Given the description of an element on the screen output the (x, y) to click on. 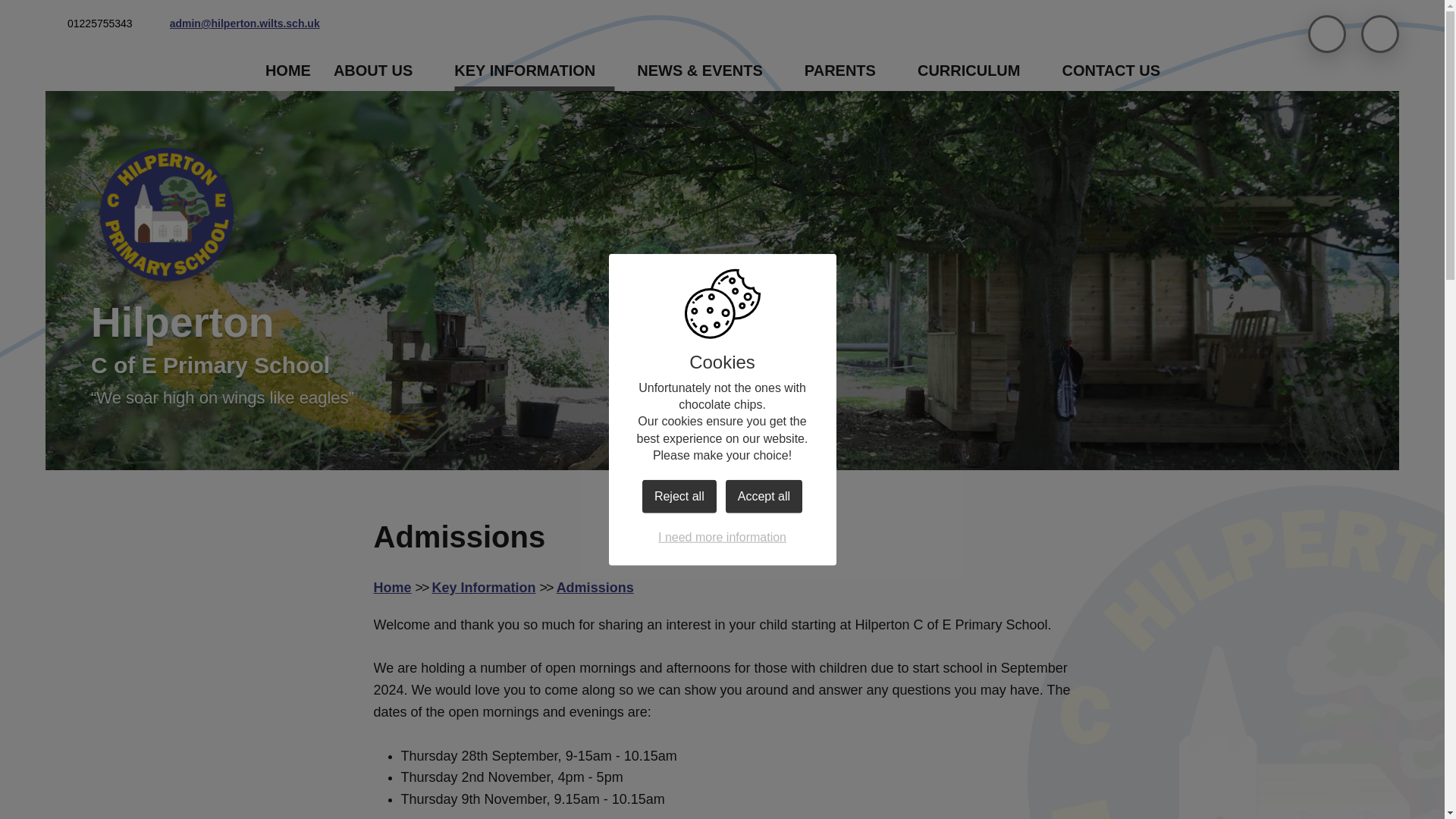
ABOUT US (382, 69)
Home Page (166, 219)
HOME (287, 69)
KEY INFORMATION (533, 69)
PARENTS (849, 69)
